Given the description of an element on the screen output the (x, y) to click on. 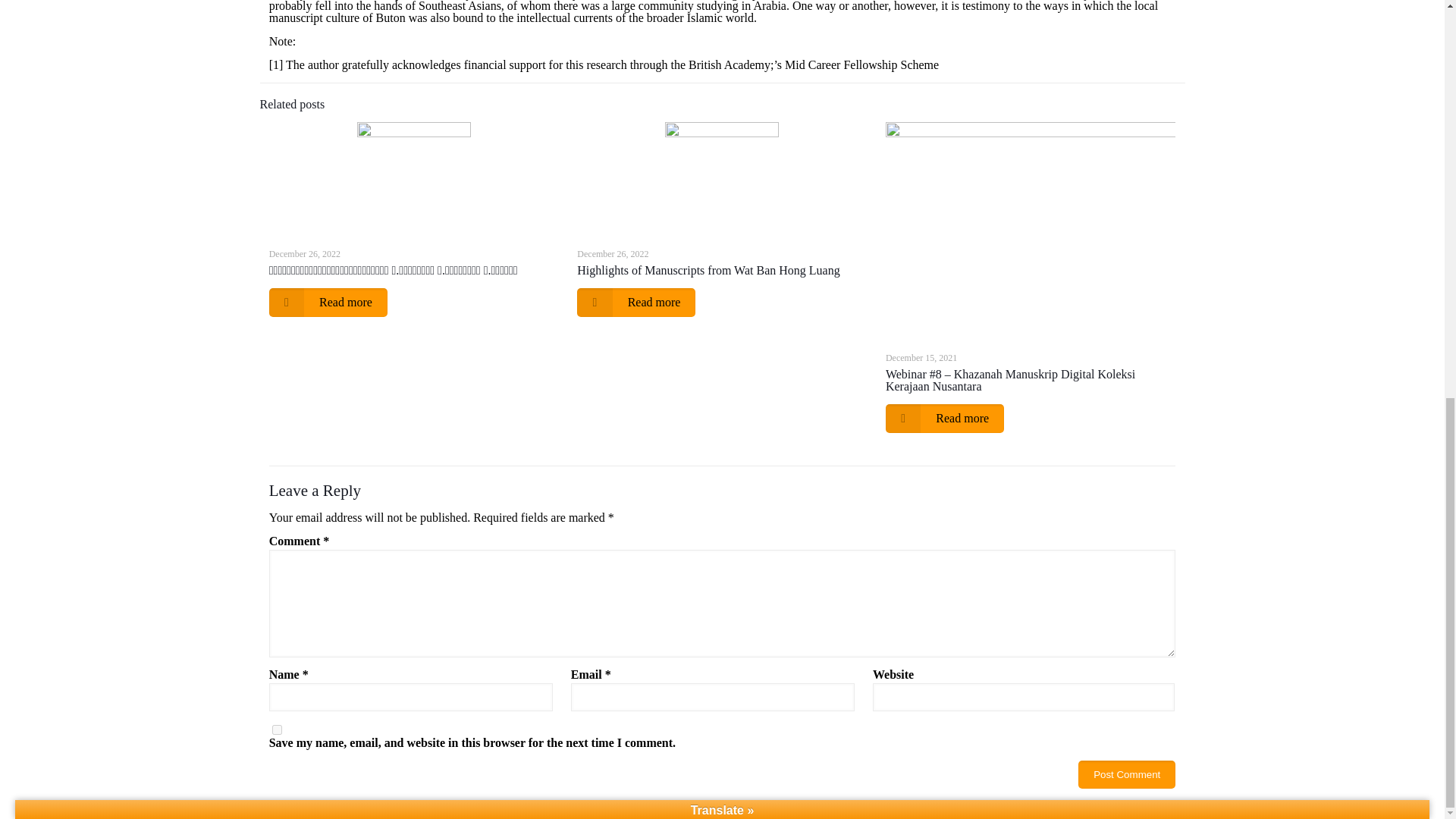
Instagram (561, 9)
Post Comment (1126, 774)
yes (277, 729)
Default Label (605, 9)
Twitter (518, 9)
Facebook (475, 9)
